Given the description of an element on the screen output the (x, y) to click on. 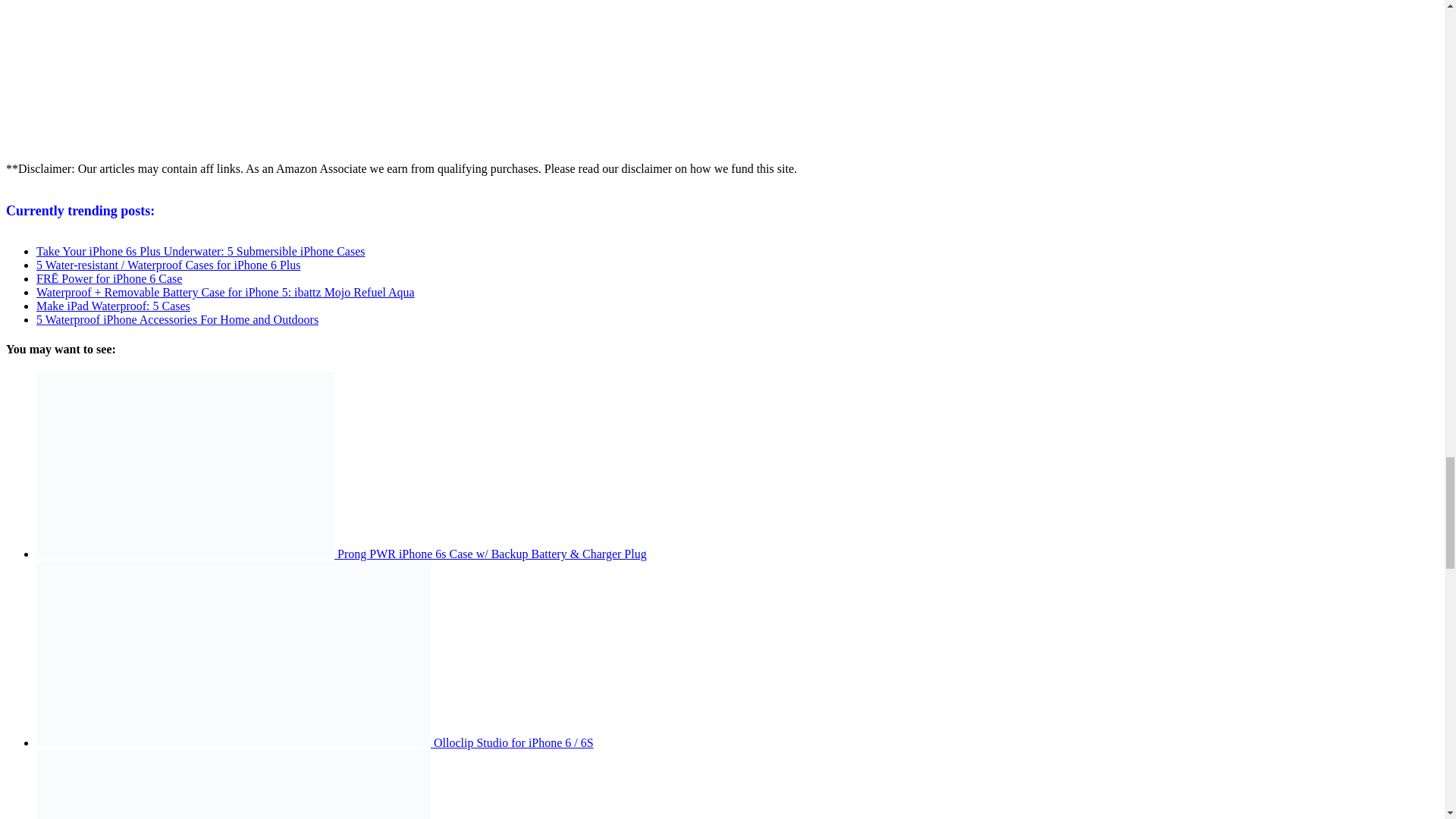
5 Waterproof iPhone Accessories For Home and Outdoors (177, 318)
Make iPad Waterproof: 5 Cases (113, 305)
